Given the description of an element on the screen output the (x, y) to click on. 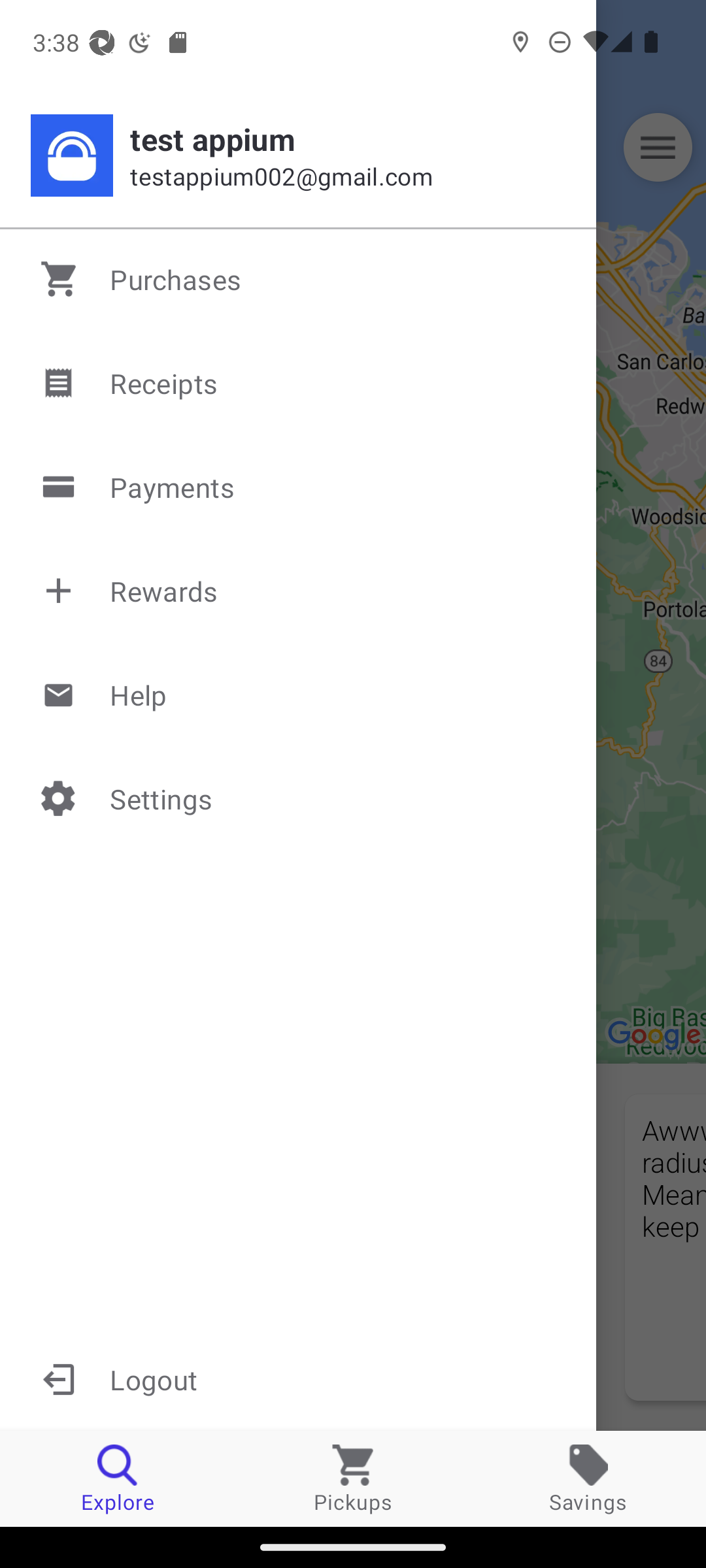
Pickups (352, 1478)
Savings (588, 1478)
